Given the description of an element on the screen output the (x, y) to click on. 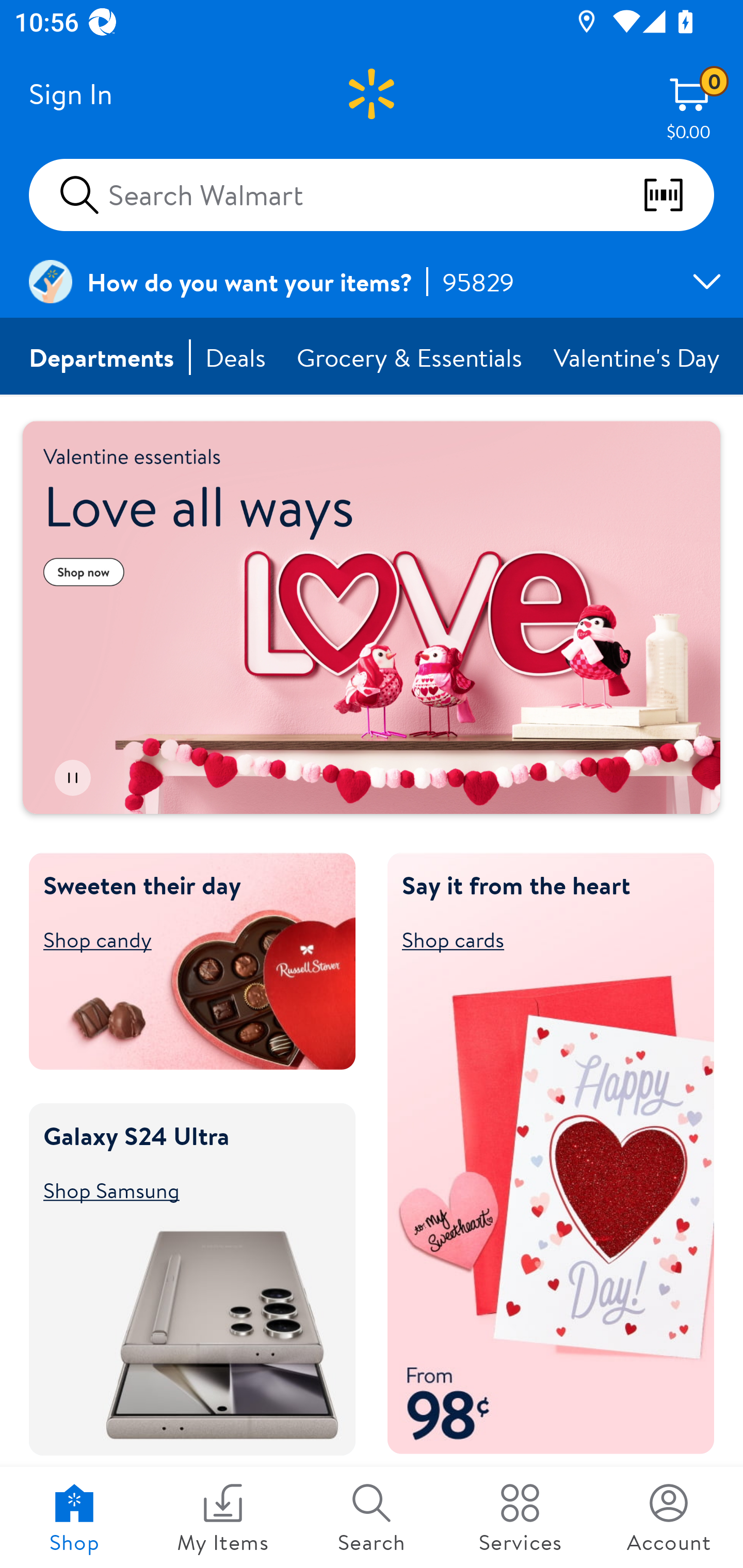
Sign In (70, 93)
Search Walmart scan barcodes qr codes and more (371, 194)
scan barcodes qr codes and more (677, 195)
Departments (102, 357)
Deals (236, 357)
Grocery & Essentials (410, 357)
Valentine's Day (637, 357)
Pause (72, 777)
Shop candy Shop candy Sweeten their day (183, 939)
Shop cards Shop cards Say it from the heart (541, 939)
Shop Samsung Shop Samsung Galaxy S24 Ultra (183, 1190)
My Items (222, 1517)
Search (371, 1517)
Services (519, 1517)
Account (668, 1517)
